Given the description of an element on the screen output the (x, y) to click on. 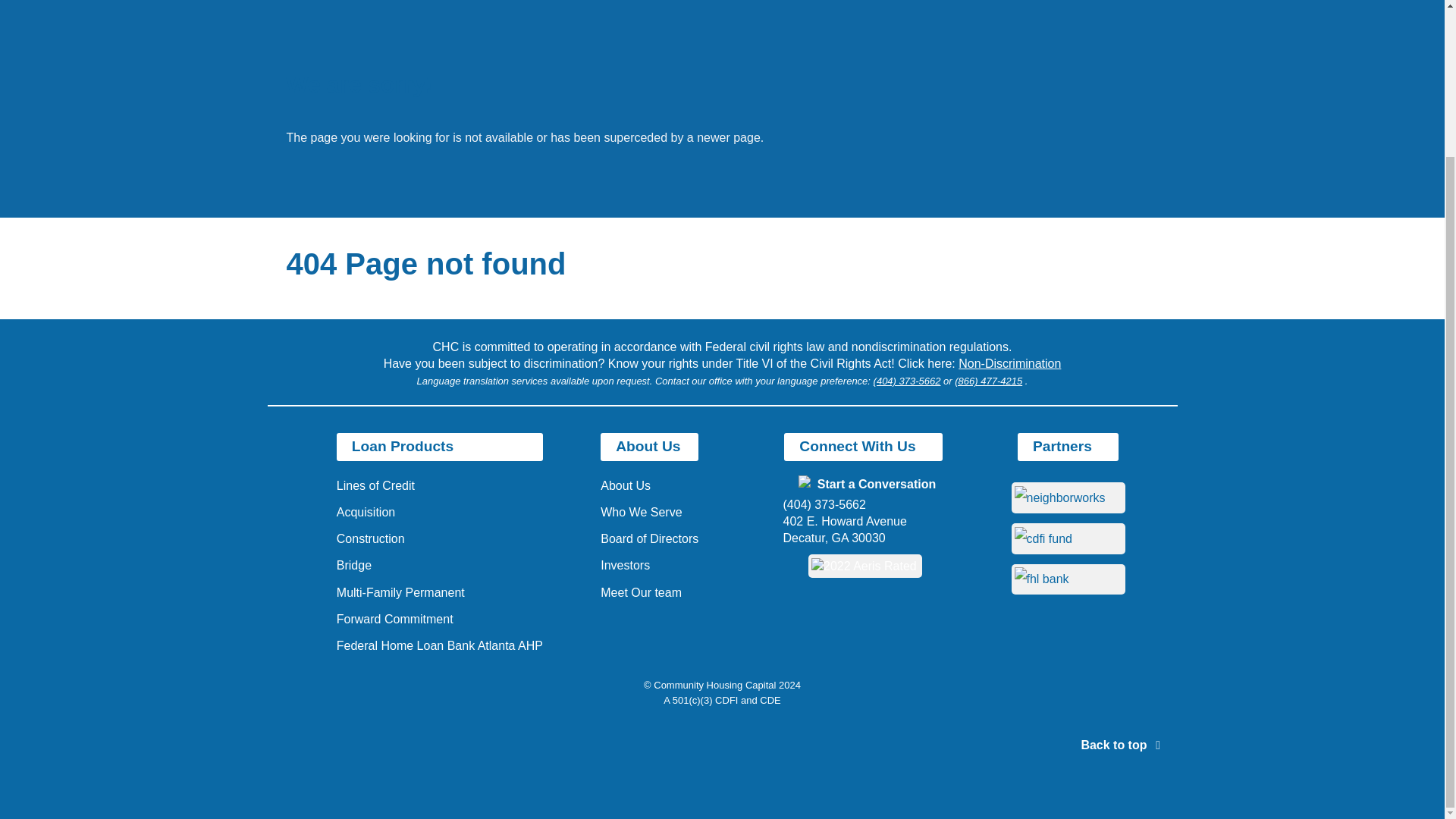
Federal Home Loan Bank Atlanta AHP (439, 645)
Bridge (353, 564)
About Us (624, 485)
Forward Commitment (394, 618)
Lines of Credit (375, 485)
Investors (624, 564)
Construction (370, 538)
Board of Directors (648, 538)
Lines of Credit (375, 485)
Who We Serve (640, 512)
Visit the Federal Home Loan Bank Atlanta website (1041, 578)
Meet Our team (640, 592)
Acquisition (365, 512)
Visit the NeighborWorks America website (1059, 496)
Visit the CDFI Fund website (1042, 537)
